Given the description of an element on the screen output the (x, y) to click on. 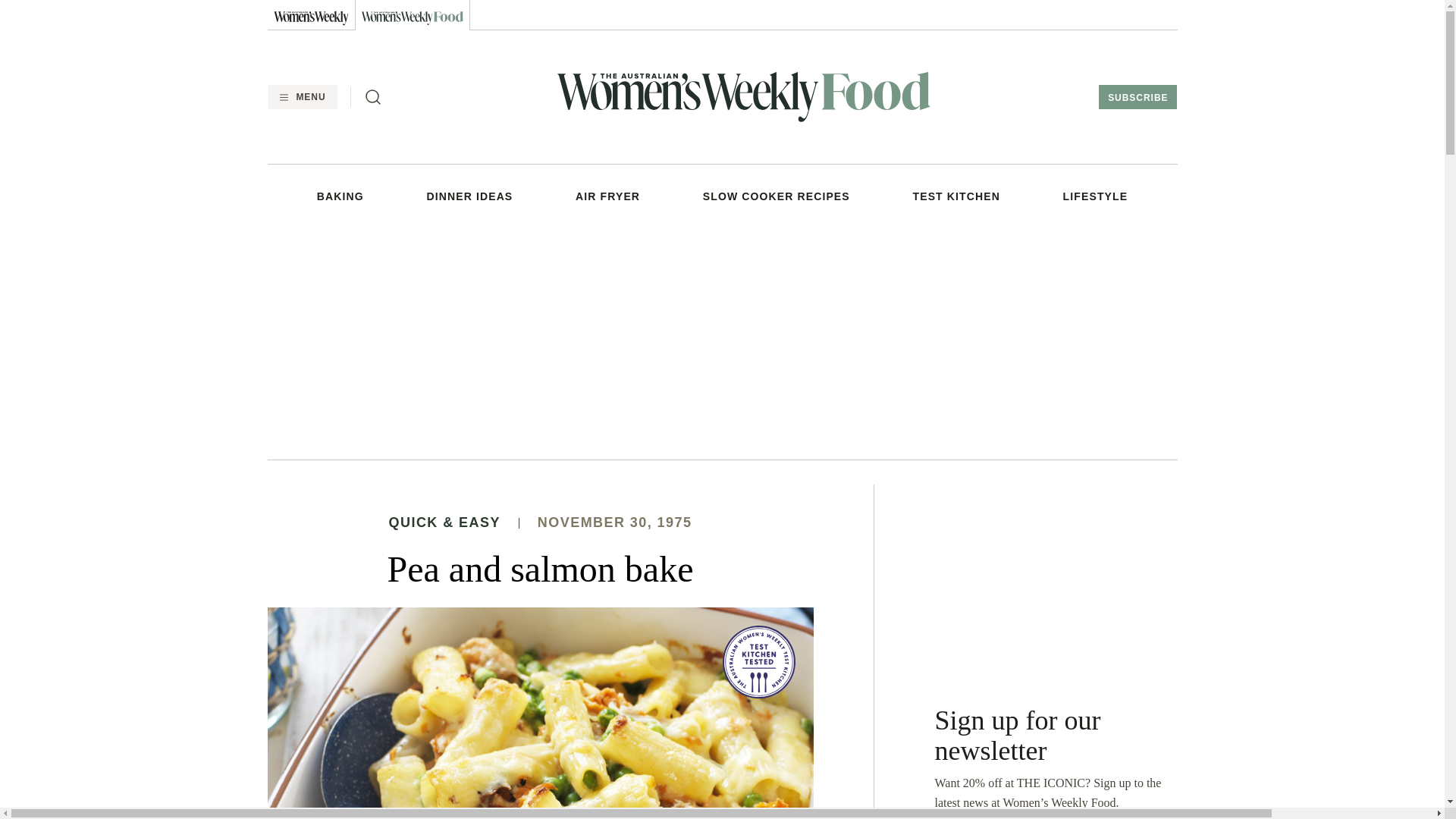
AIR FRYER (607, 196)
BAKING (340, 196)
MENU (301, 96)
DINNER IDEAS (469, 196)
TEST KITCHEN (956, 196)
SLOW COOKER RECIPES (776, 196)
LIFESTYLE (1095, 196)
SUBSCRIBE (1137, 96)
